Given the description of an element on the screen output the (x, y) to click on. 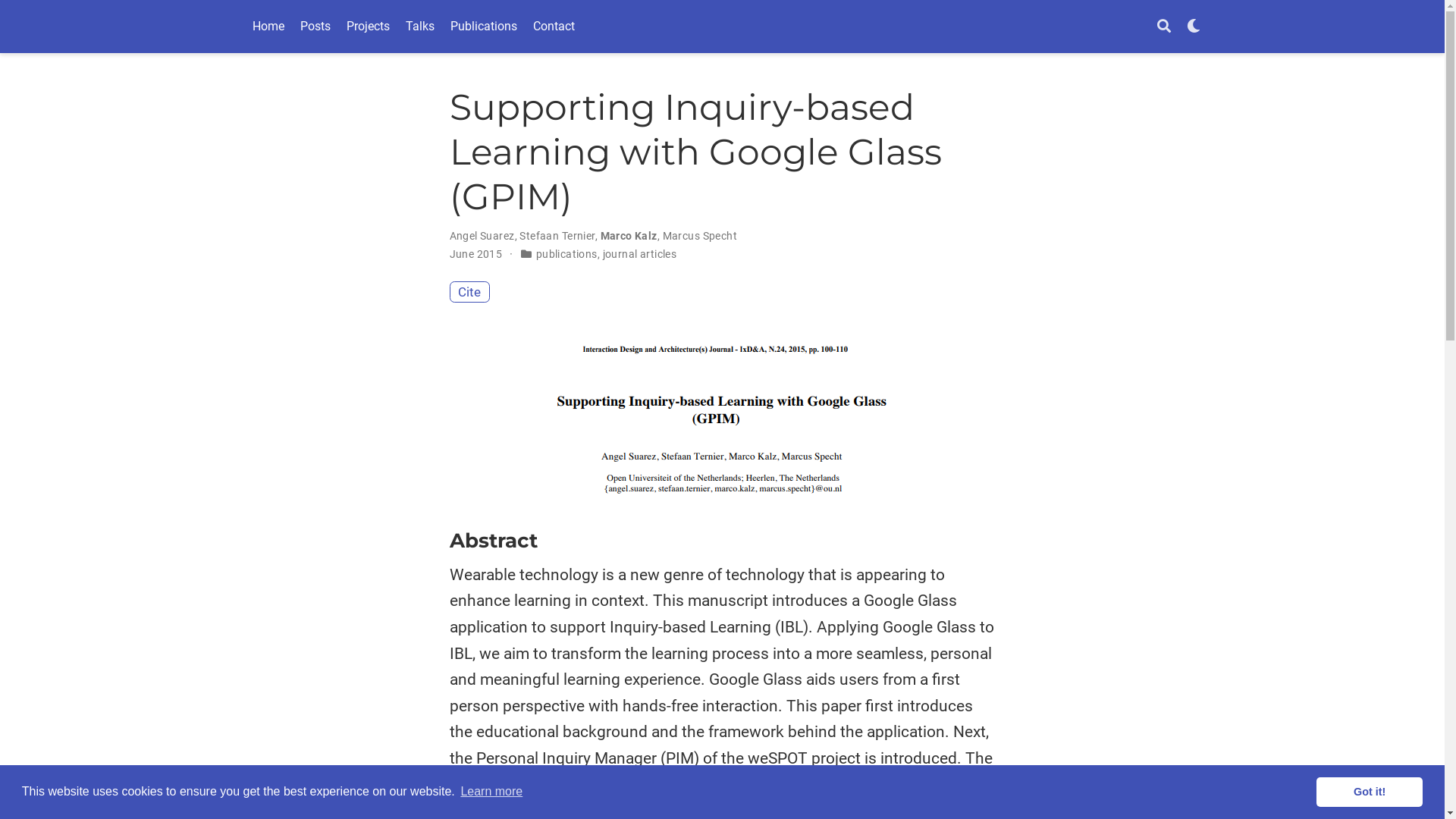
Publications Element type: text (483, 25)
publications Element type: text (566, 253)
Contact Element type: text (553, 25)
Cite Element type: text (468, 292)
journal articles Element type: text (639, 253)
Learn more Element type: text (491, 791)
Projects Element type: text (367, 25)
Got it! Element type: text (1369, 791)
Home Element type: text (267, 25)
Talks Element type: text (419, 25)
Posts Element type: text (315, 25)
